Given the description of an element on the screen output the (x, y) to click on. 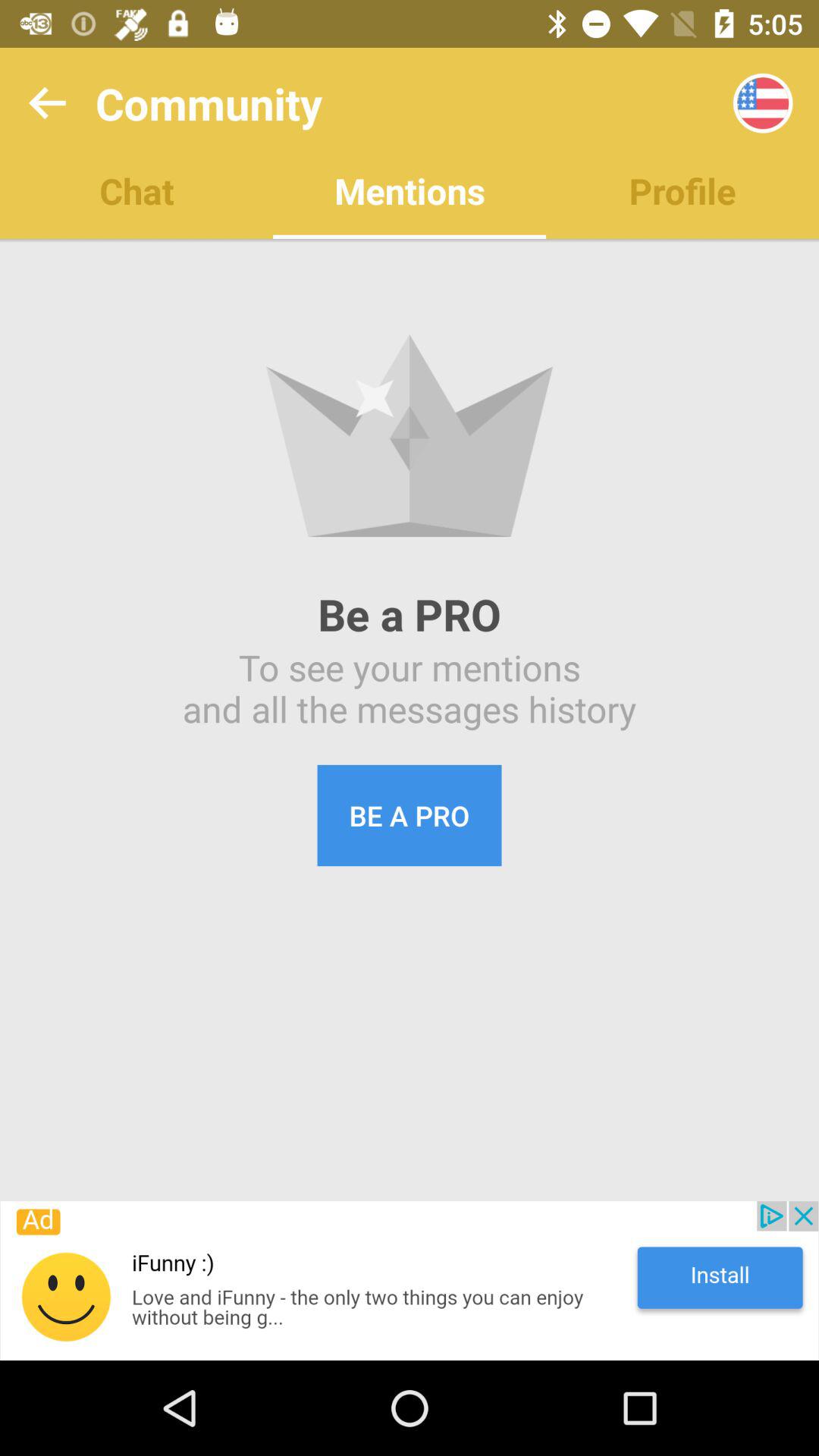
install app (409, 1280)
